Given the description of an element on the screen output the (x, y) to click on. 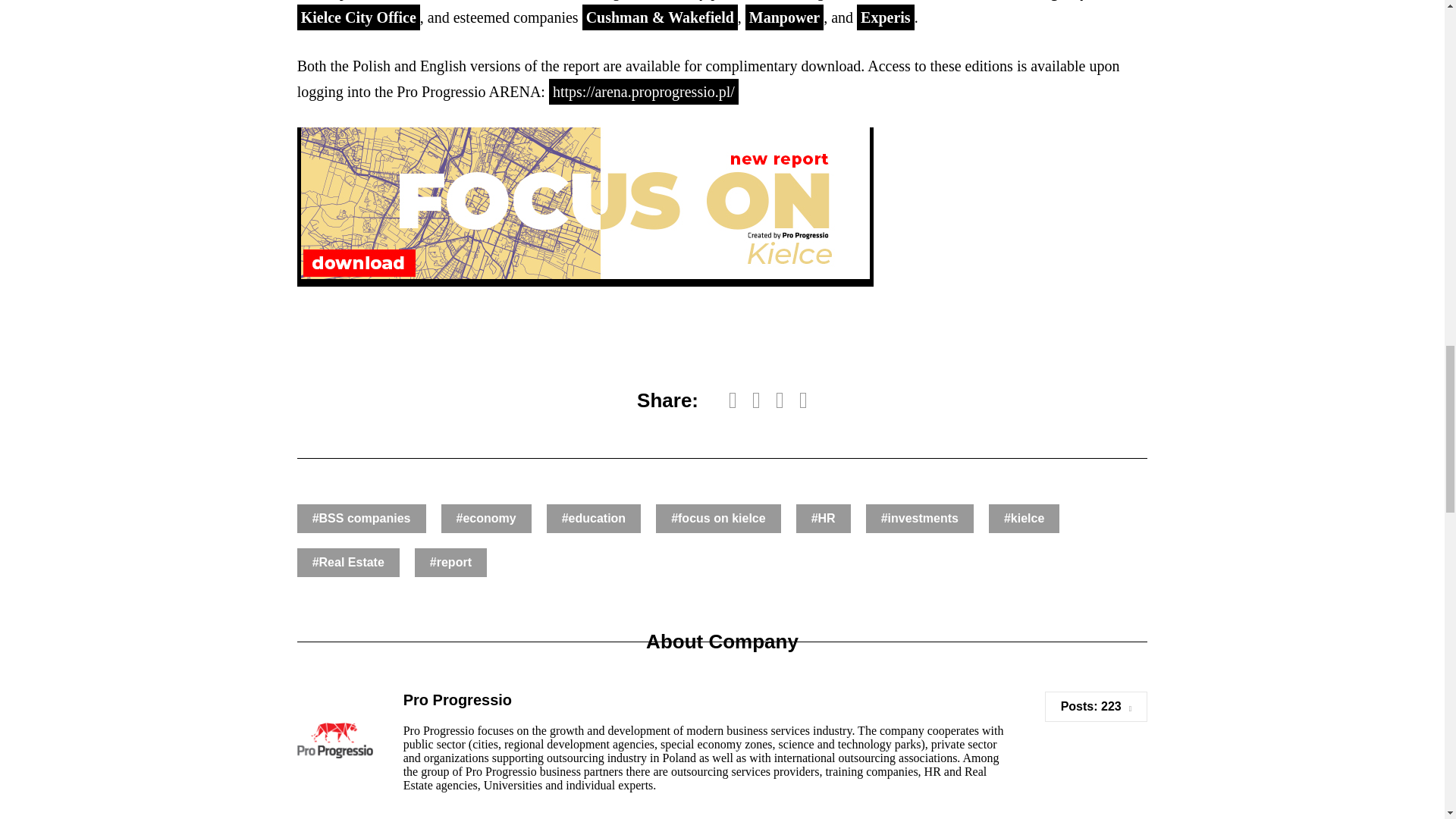
Experis (885, 17)
kielce (1023, 518)
economy (486, 518)
Kielce City Office (358, 17)
Manpower (784, 17)
investments (920, 518)
Real Estate (347, 562)
focus on kielce (718, 518)
report (450, 562)
education (593, 518)
